Given the description of an element on the screen output the (x, y) to click on. 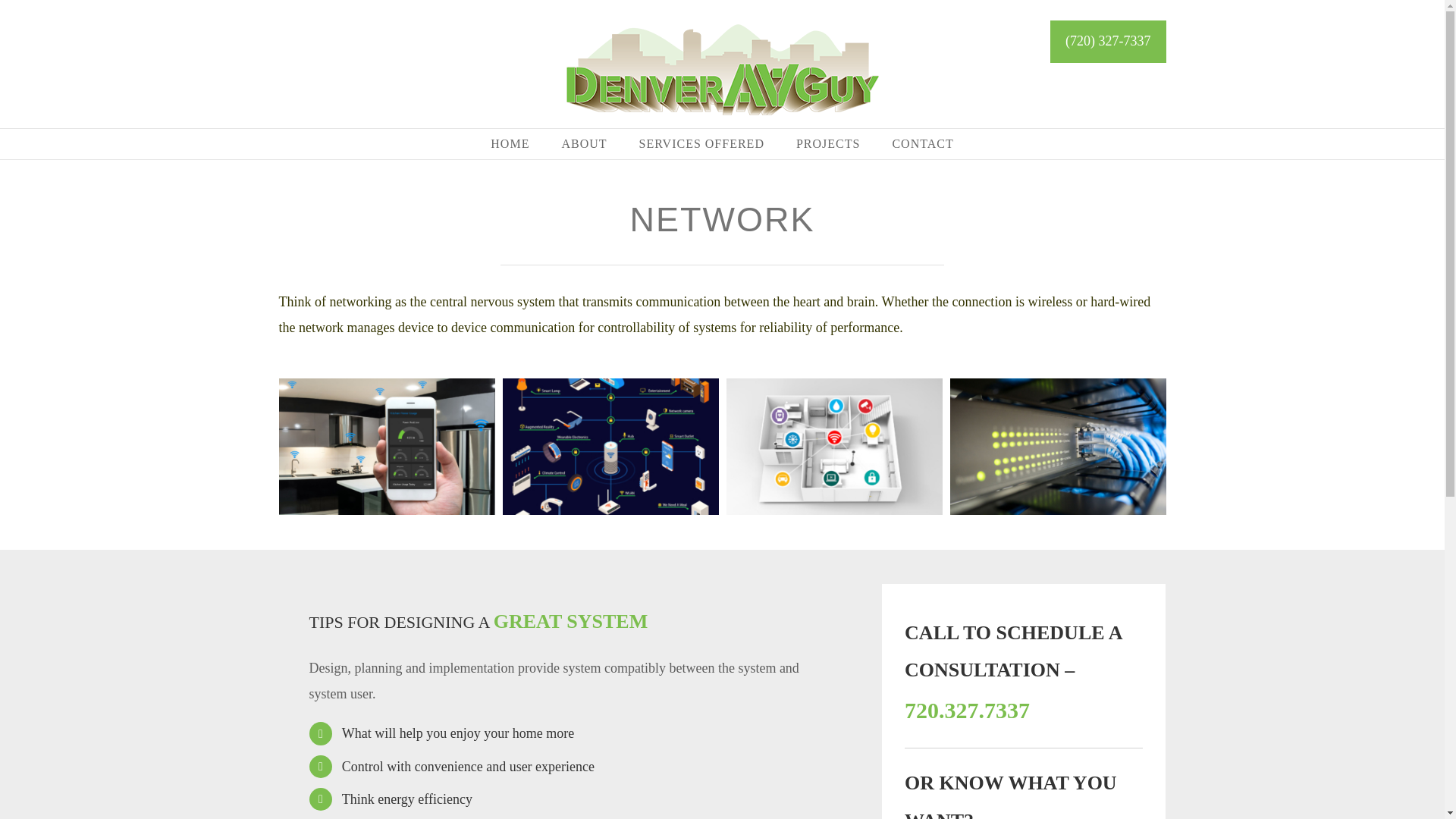
ABOUT (583, 143)
CONTACT (922, 143)
PROJECTS (828, 143)
SERVICES OFFERED (701, 143)
HOME (509, 143)
